Given the description of an element on the screen output the (x, y) to click on. 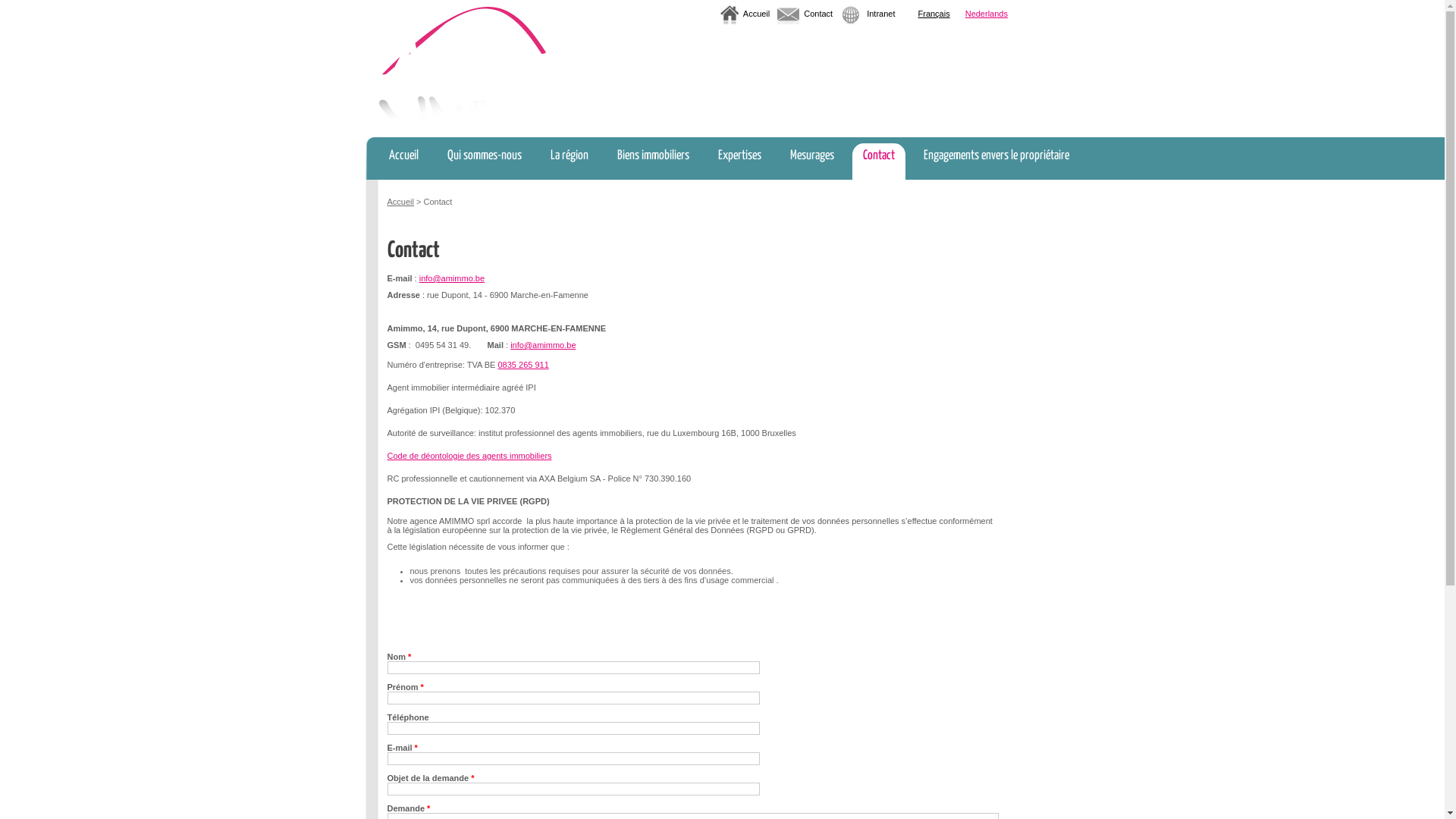
info@amimmo.be Element type: text (451, 277)
Biens immobiliers Element type: text (652, 161)
Mesurages Element type: text (811, 161)
Amimmo Element type: hover (461, 62)
Qui sommes-nous Element type: text (484, 161)
Nederlands Element type: text (986, 16)
Intranet Element type: text (880, 13)
Contact Element type: text (817, 13)
Expertises Element type: text (738, 161)
Accueil Element type: text (402, 161)
Contact Element type: text (878, 161)
Accueil Element type: text (756, 13)
info@amimmo.be Element type: text (542, 344)
0835 265 911 Element type: text (522, 364)
Accueil Element type: text (399, 201)
